Given the description of an element on the screen output the (x, y) to click on. 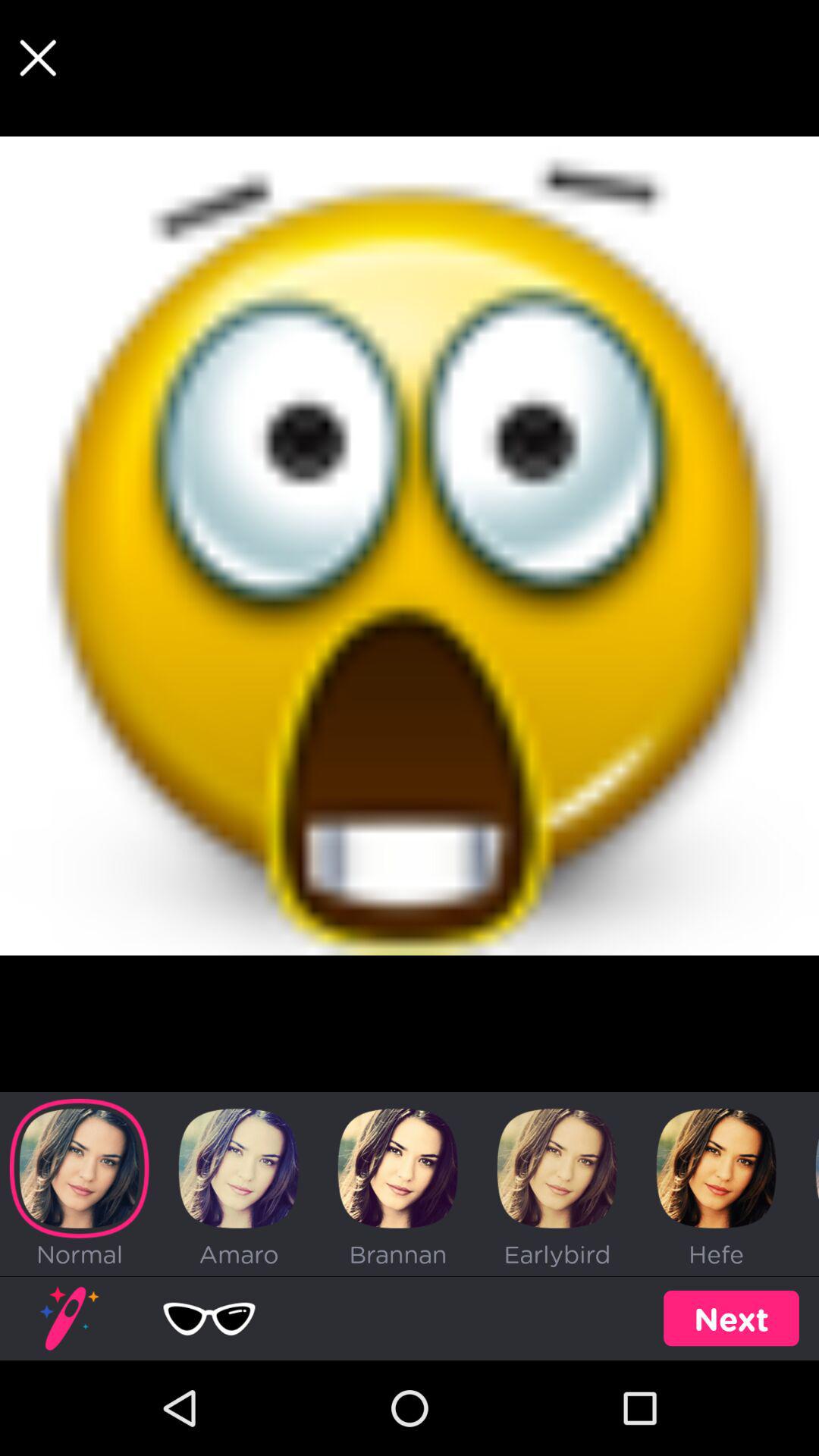
select the cooling glasses image icon (209, 1317)
click on the image above the text normal (69, 1317)
click on the image which is above normal (79, 1169)
select close at the left top side corner of the page (38, 58)
select the picture which is above the text hefe (716, 1169)
